Given the description of an element on the screen output the (x, y) to click on. 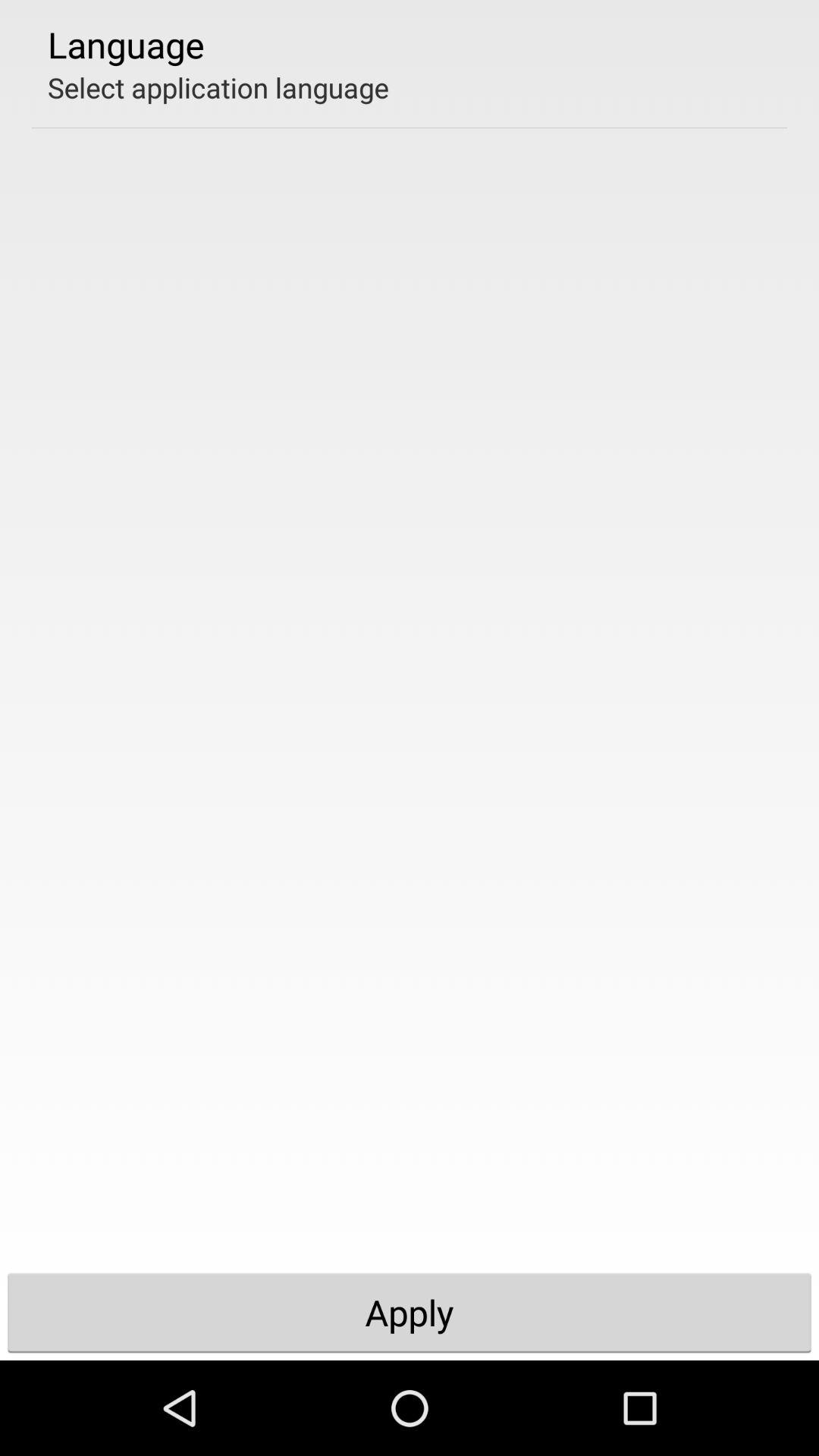
launch the apply at the bottom (409, 1312)
